Given the description of an element on the screen output the (x, y) to click on. 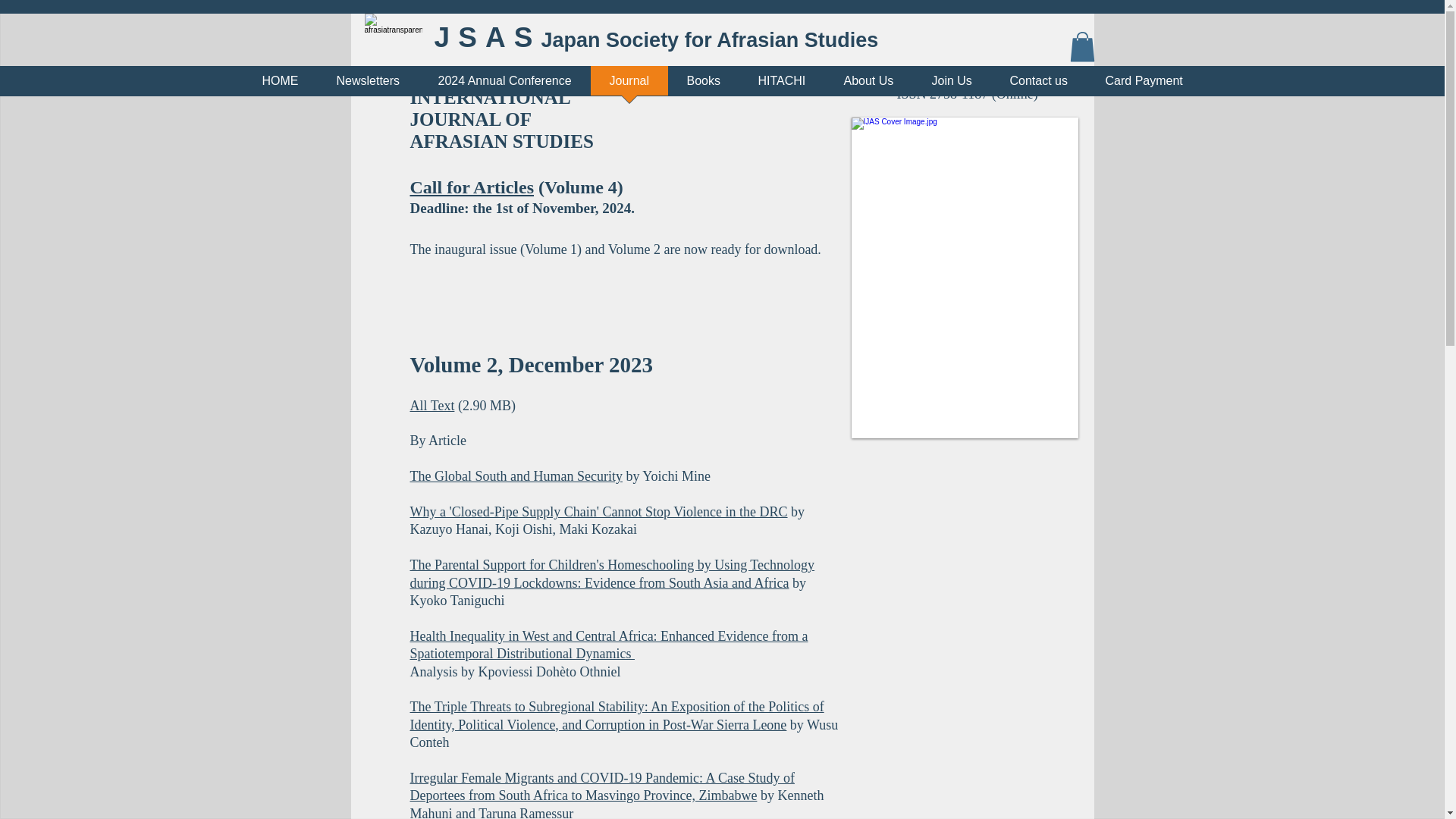
About Us (868, 85)
Newsletters (368, 85)
HOME (280, 85)
Join Us (951, 85)
The Global South and Human Security (515, 476)
Card Payment (1143, 85)
Contact us (1038, 85)
All Text (431, 405)
